Given the description of an element on the screen output the (x, y) to click on. 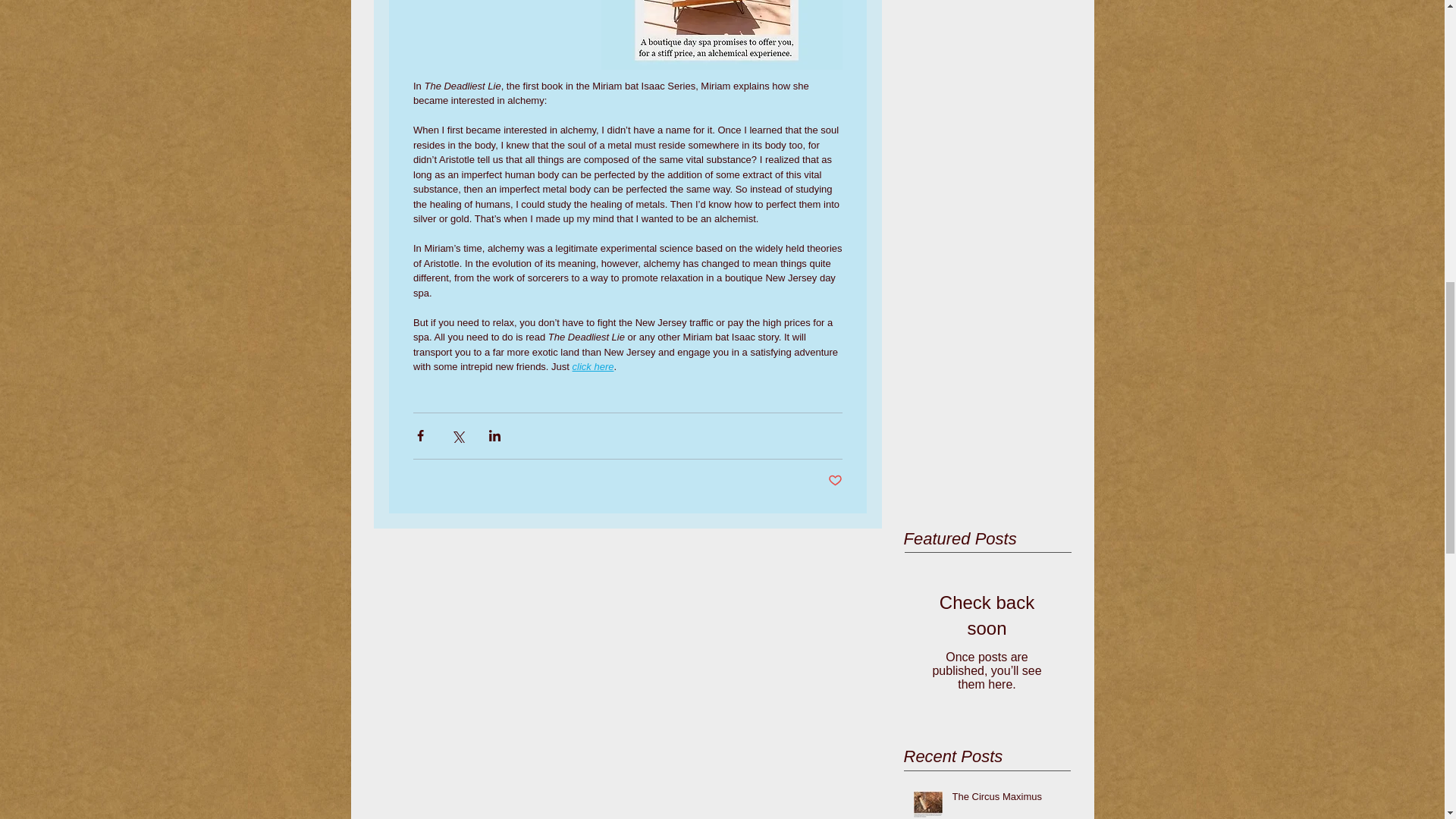
click here (592, 366)
Post not marked as liked (835, 480)
The Circus Maximus (1006, 799)
